Given the description of an element on the screen output the (x, y) to click on. 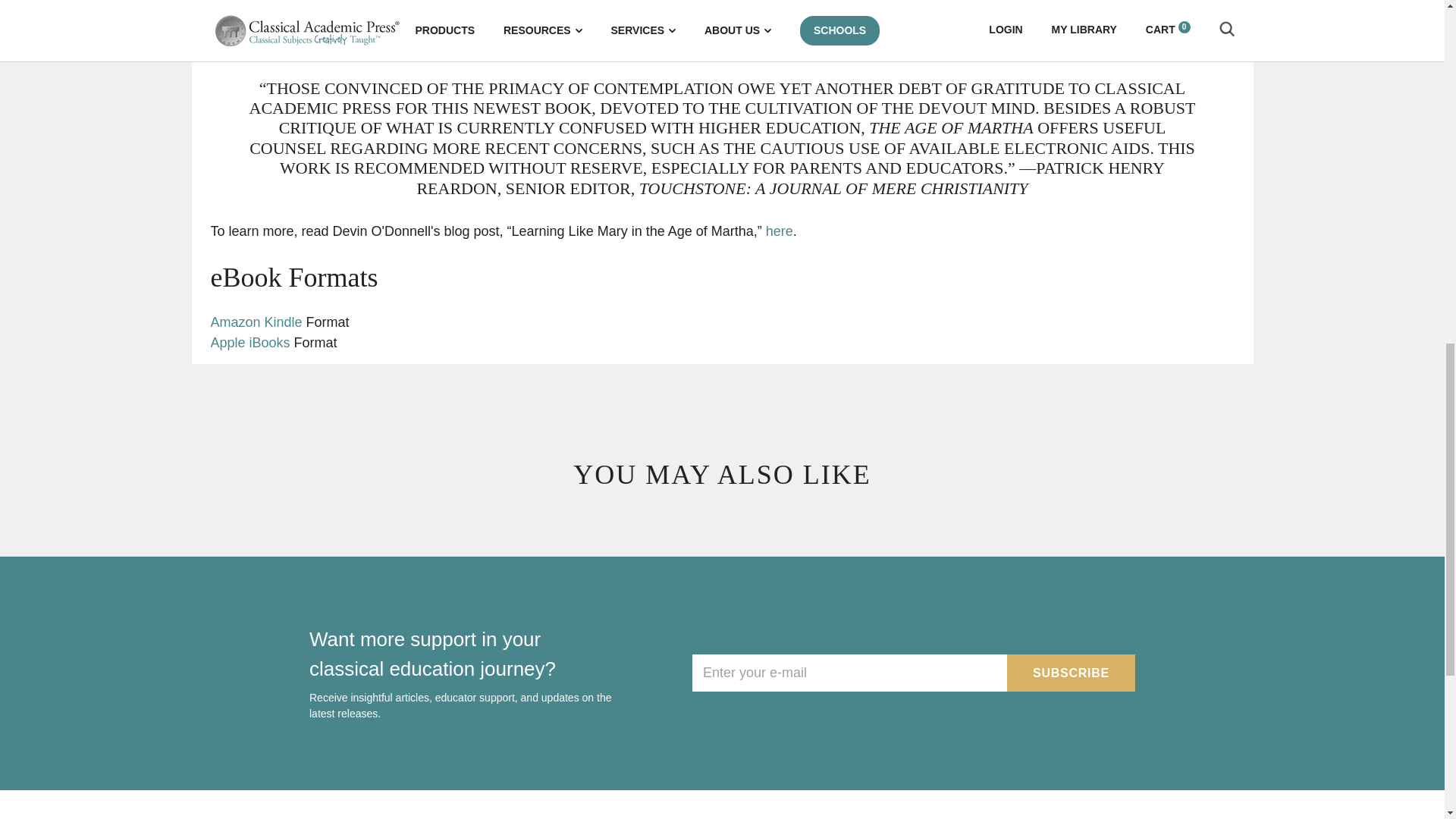
Kindle Format (256, 322)
Teaching from Rest (250, 342)
Subscribe (1071, 672)
